Given the description of an element on the screen output the (x, y) to click on. 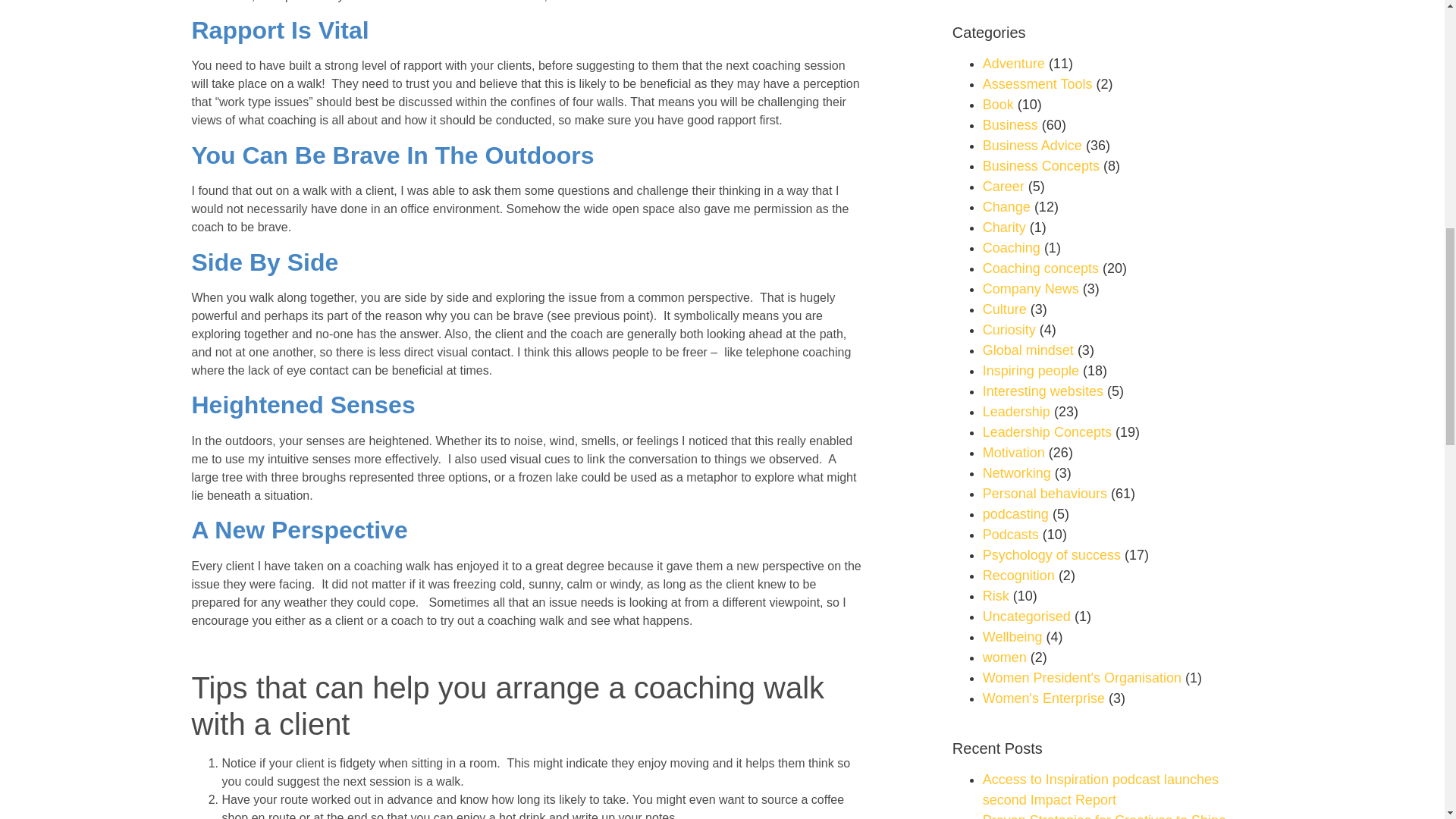
Business Advice (1031, 145)
Assessment Tools (1037, 83)
Adventure (1013, 63)
Business (1010, 124)
Book (997, 104)
